Given the description of an element on the screen output the (x, y) to click on. 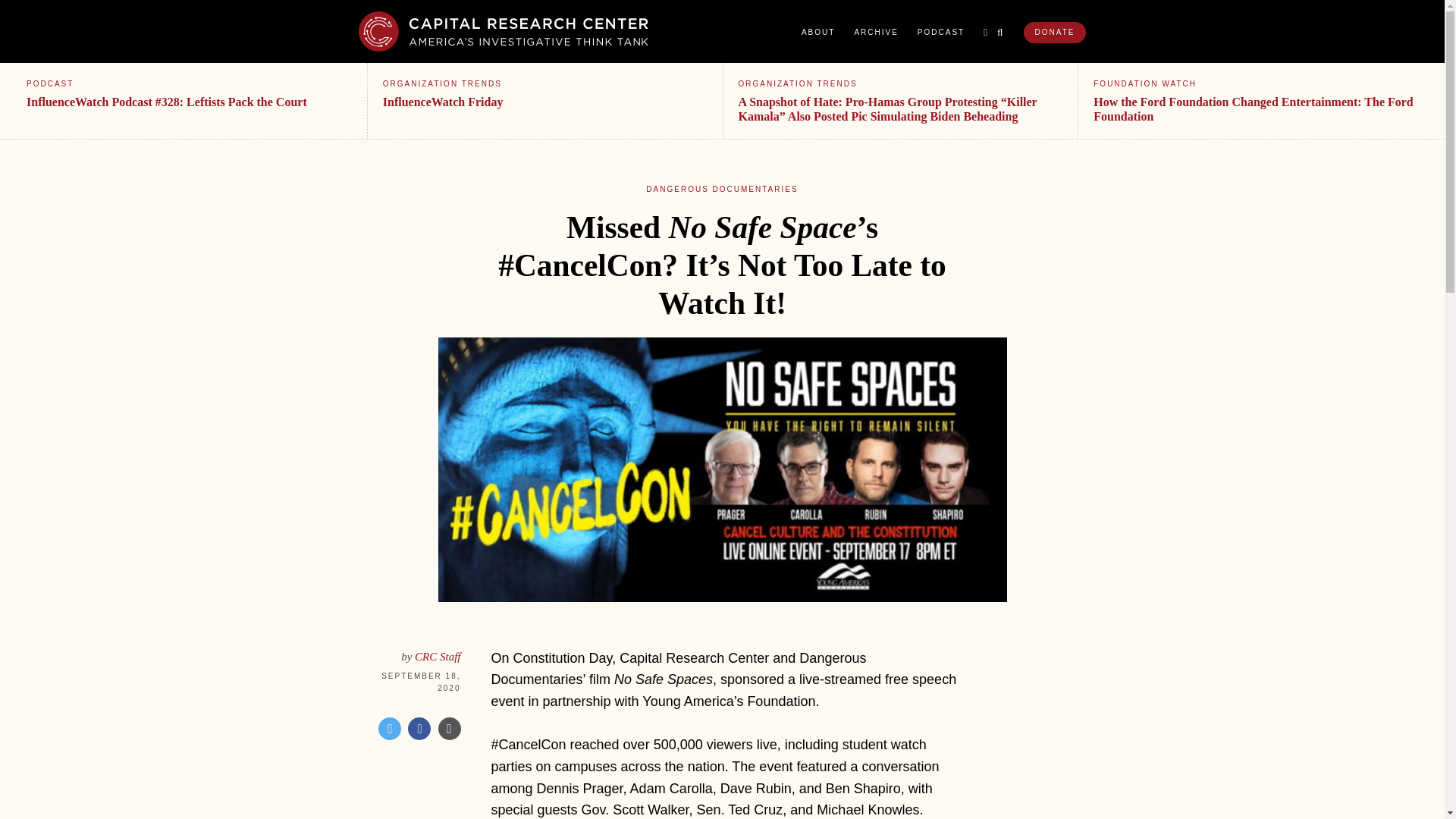
FOUNDATION WATCH (1144, 83)
Print this Page (449, 728)
DANGEROUS DOCUMENTARIES (721, 189)
ORGANIZATION TRENDS (797, 83)
DONATE (1054, 32)
Share on Facebook (418, 728)
Print (449, 728)
Share on Facebook (418, 728)
ABOUT (818, 32)
PODCAST (50, 83)
ARCHIVE (875, 32)
Share on Twitter (389, 728)
CRC Staff (437, 656)
ORGANIZATION TRENDS (442, 83)
InfluenceWatch Friday (442, 101)
